Given the description of an element on the screen output the (x, y) to click on. 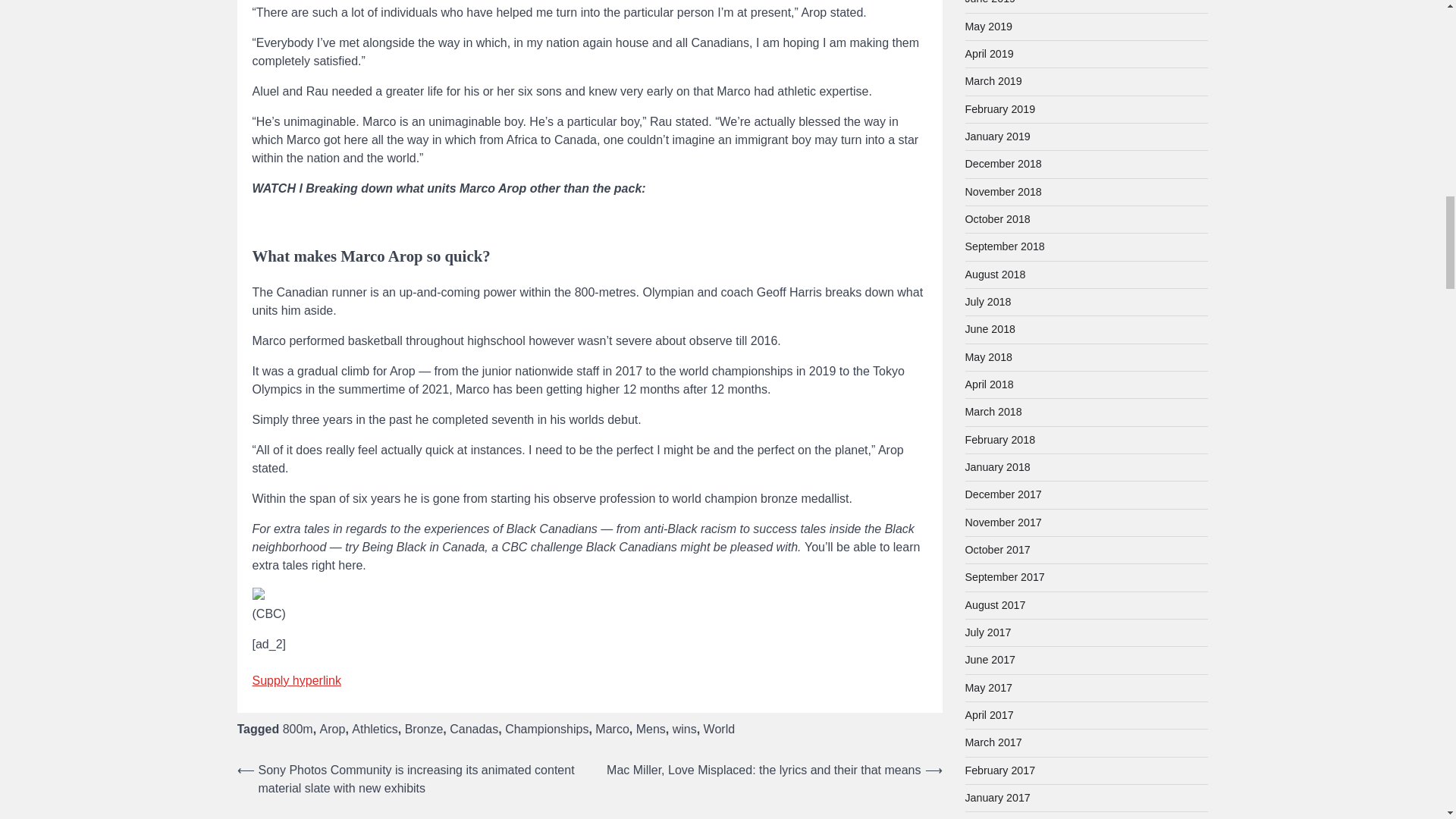
Arop (333, 728)
Mens (650, 728)
Canadas (473, 728)
wins (684, 728)
Marco (611, 728)
Bronze (424, 728)
Athletics (374, 728)
Supply hyperlink (295, 680)
What makes Marco Arop so fast? (588, 238)
Championships (546, 728)
